Given the description of an element on the screen output the (x, y) to click on. 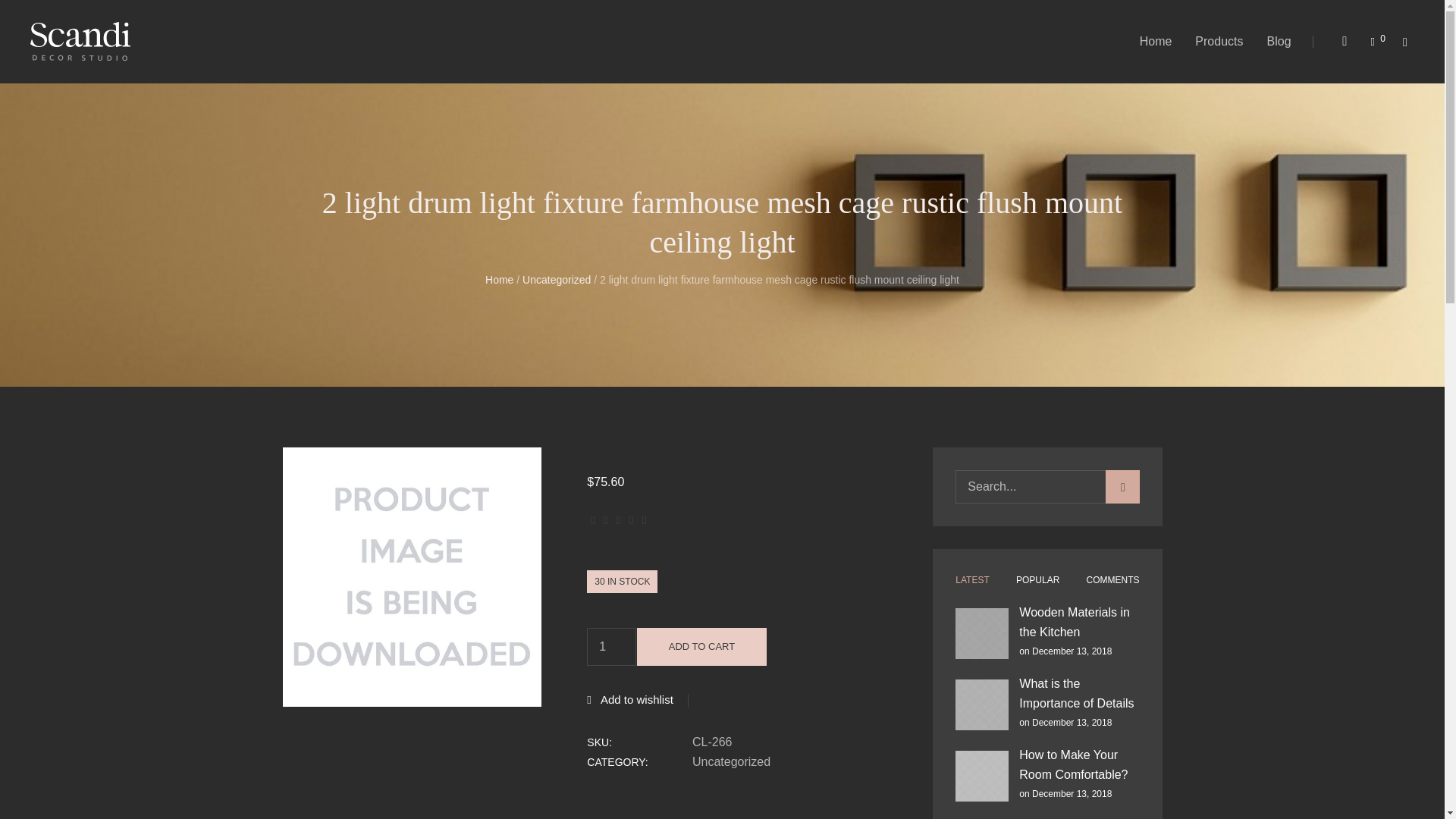
Wooden Materials in the Kitchen (982, 633)
Uncategorized (797, 762)
Blog (1279, 41)
Home (1155, 41)
s2w-placeholder (411, 576)
1 (611, 646)
Rated 0 out of 5 (618, 520)
Add to wishlist (629, 698)
Home (498, 278)
Uncategorized (556, 278)
